Given the description of an element on the screen output the (x, y) to click on. 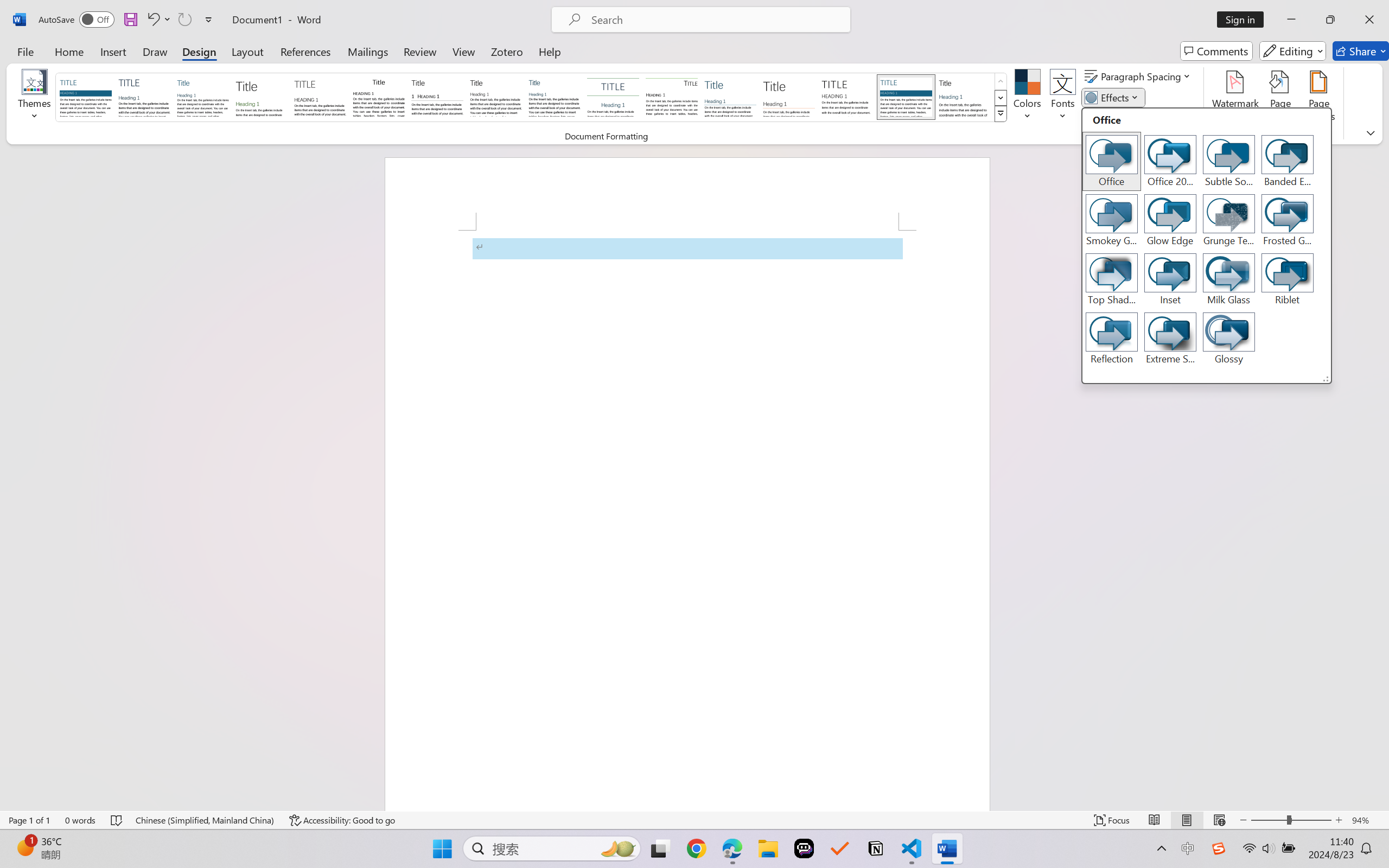
Minimalist (847, 96)
Editing (1292, 50)
Colors (1027, 97)
Centered (612, 96)
Black & White (Classic) (379, 96)
Lines (Simple) (730, 96)
Style Set (1000, 113)
Effects (1207, 245)
AutomationID: QuickStylesSets (531, 97)
Undo Apply Quick Style (158, 19)
